Given the description of an element on the screen output the (x, y) to click on. 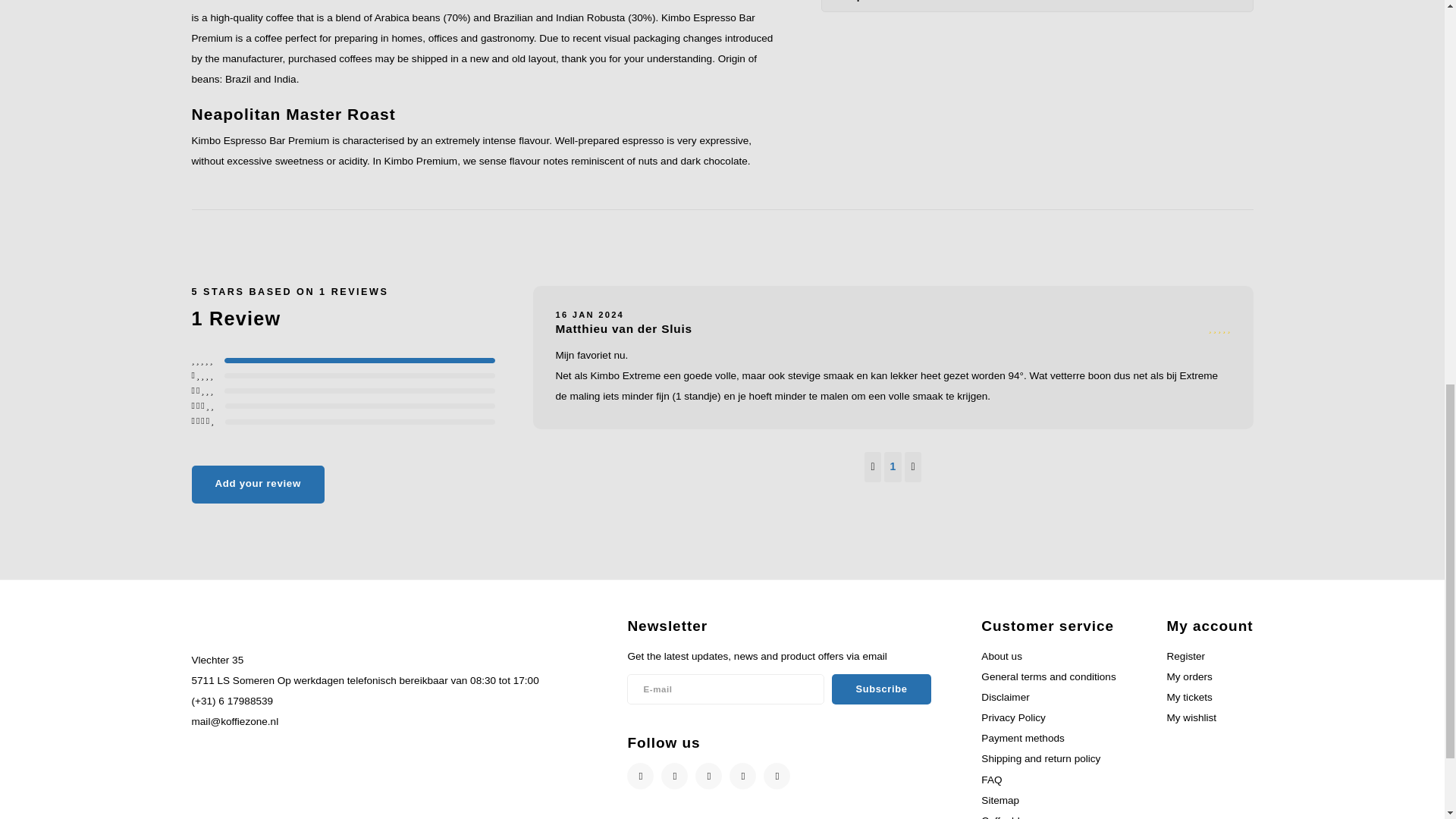
Register (1185, 655)
My wishlist (1190, 717)
My tickets (1188, 696)
Instagram  (674, 775)
My orders (1188, 676)
Subscribe (880, 689)
